Given the description of an element on the screen output the (x, y) to click on. 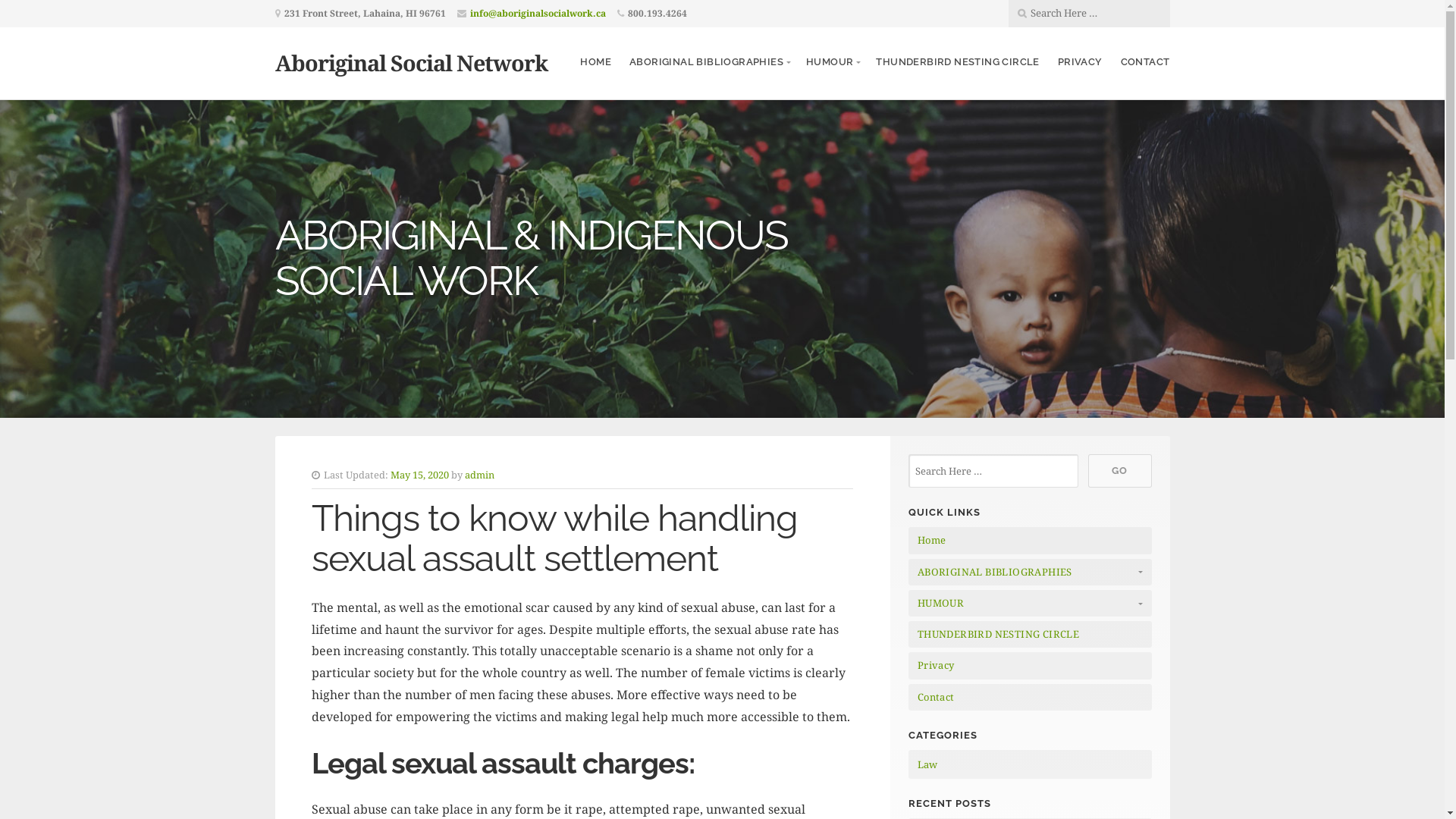
HUMOUR Element type: text (831, 62)
Law Element type: text (927, 764)
THUNDERBIRD NESTING CIRCLE Element type: text (956, 62)
HOME Element type: text (595, 62)
CONTACT Element type: text (1145, 62)
May 15, 2020 Element type: text (419, 474)
Aboriginal Social Network Element type: text (410, 62)
info@aboriginalsocialwork.ca Element type: text (537, 12)
HUMOUR Element type: text (1029, 602)
admin Element type: text (479, 474)
ABORIGINAL BIBLIOGRAPHIES Element type: text (1029, 571)
ABORIGINAL BIBLIOGRAPHIES Element type: text (708, 62)
Contact Element type: text (1029, 697)
Home Element type: text (1029, 540)
PRIVACY Element type: text (1079, 62)
THUNDERBIRD NESTING CIRCLE Element type: text (1029, 634)
Go Element type: text (116, 12)
Go Element type: text (1119, 470)
Privacy Element type: text (1029, 665)
